Given the description of an element on the screen output the (x, y) to click on. 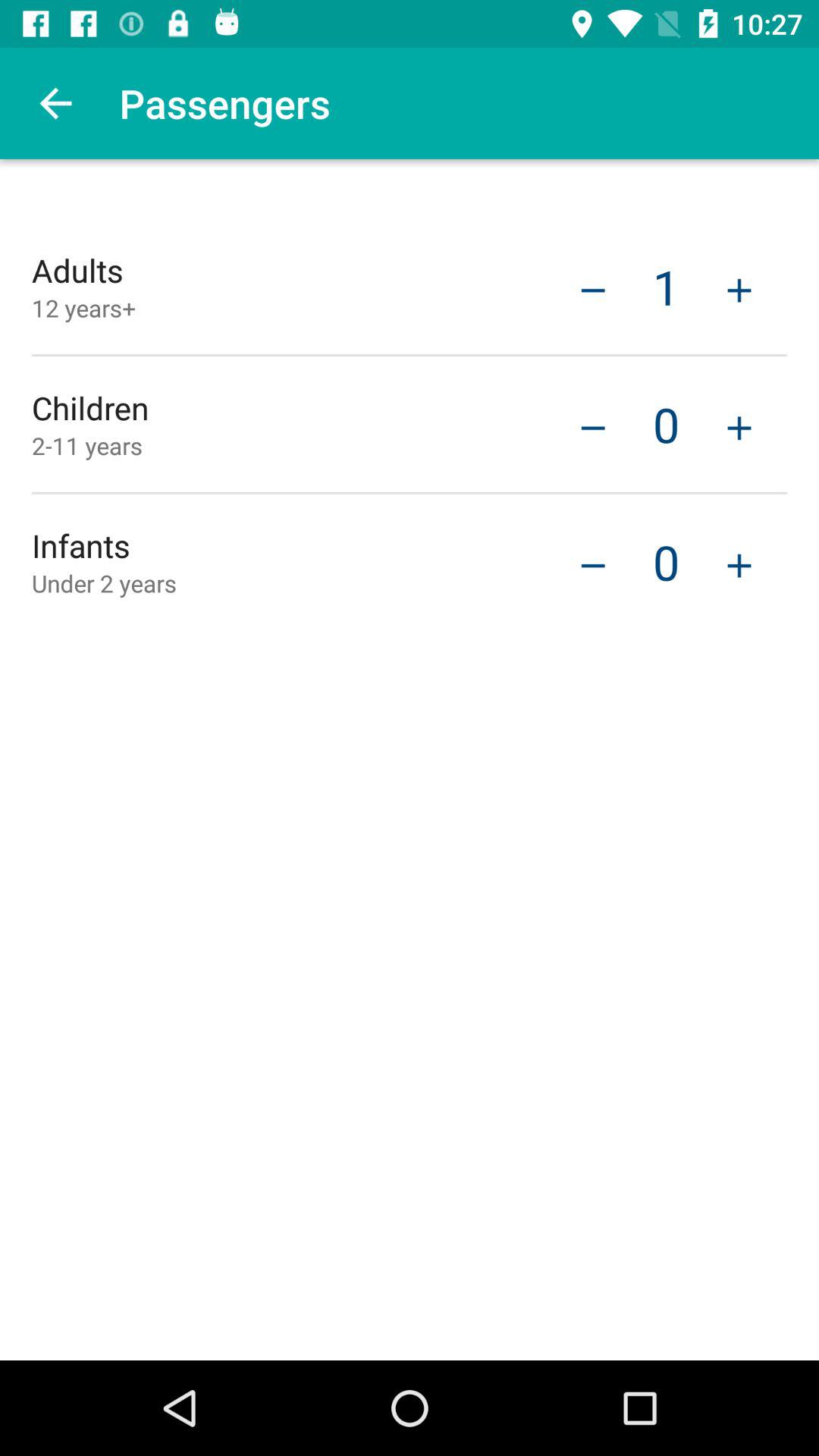
select item to the left of the 0 (592, 563)
